Given the description of an element on the screen output the (x, y) to click on. 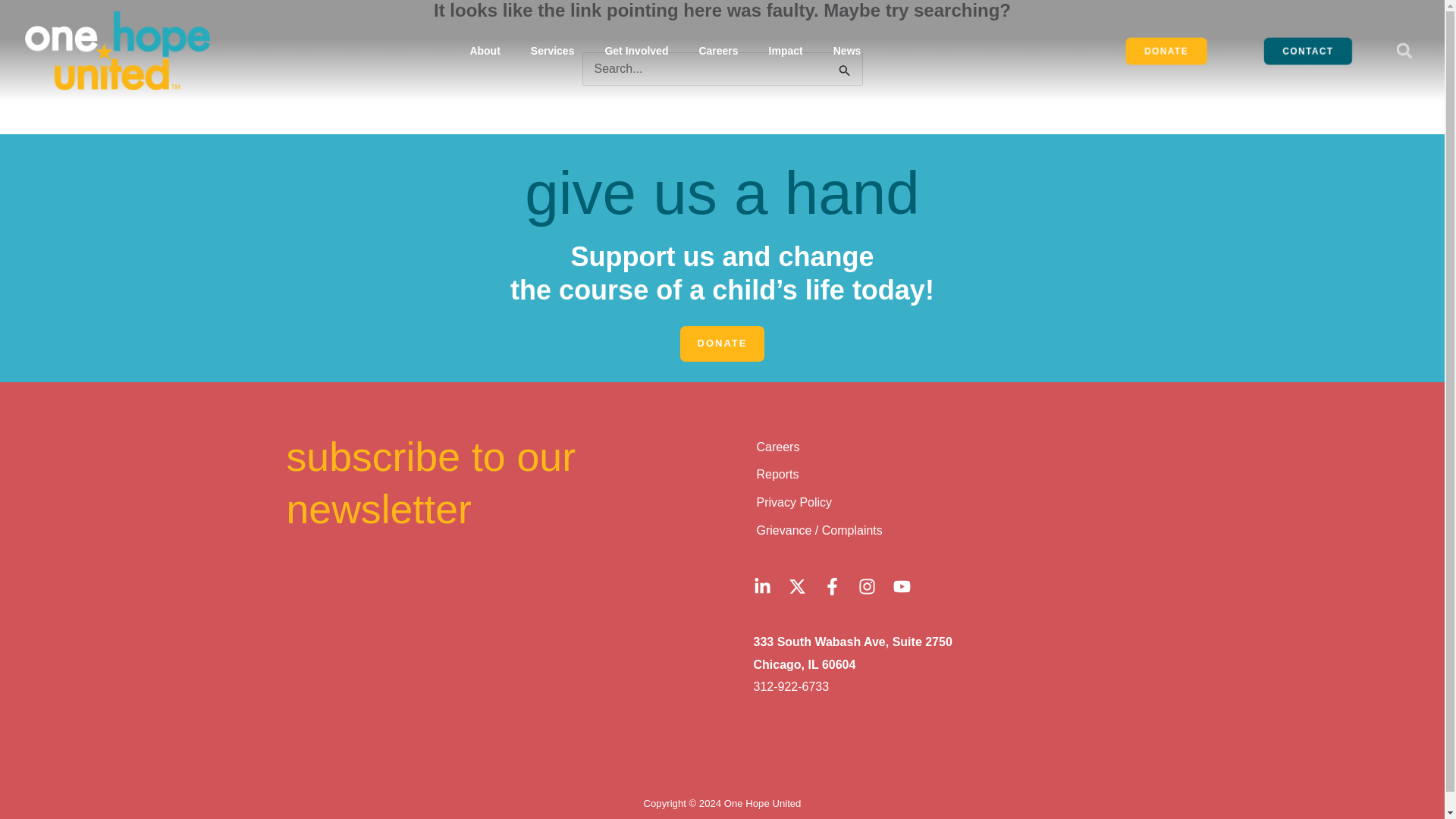
Careers (717, 50)
Search (844, 71)
Services (552, 50)
News (847, 50)
Impact (786, 50)
About (484, 50)
Get Involved (635, 50)
Search (844, 71)
